Given the description of an element on the screen output the (x, y) to click on. 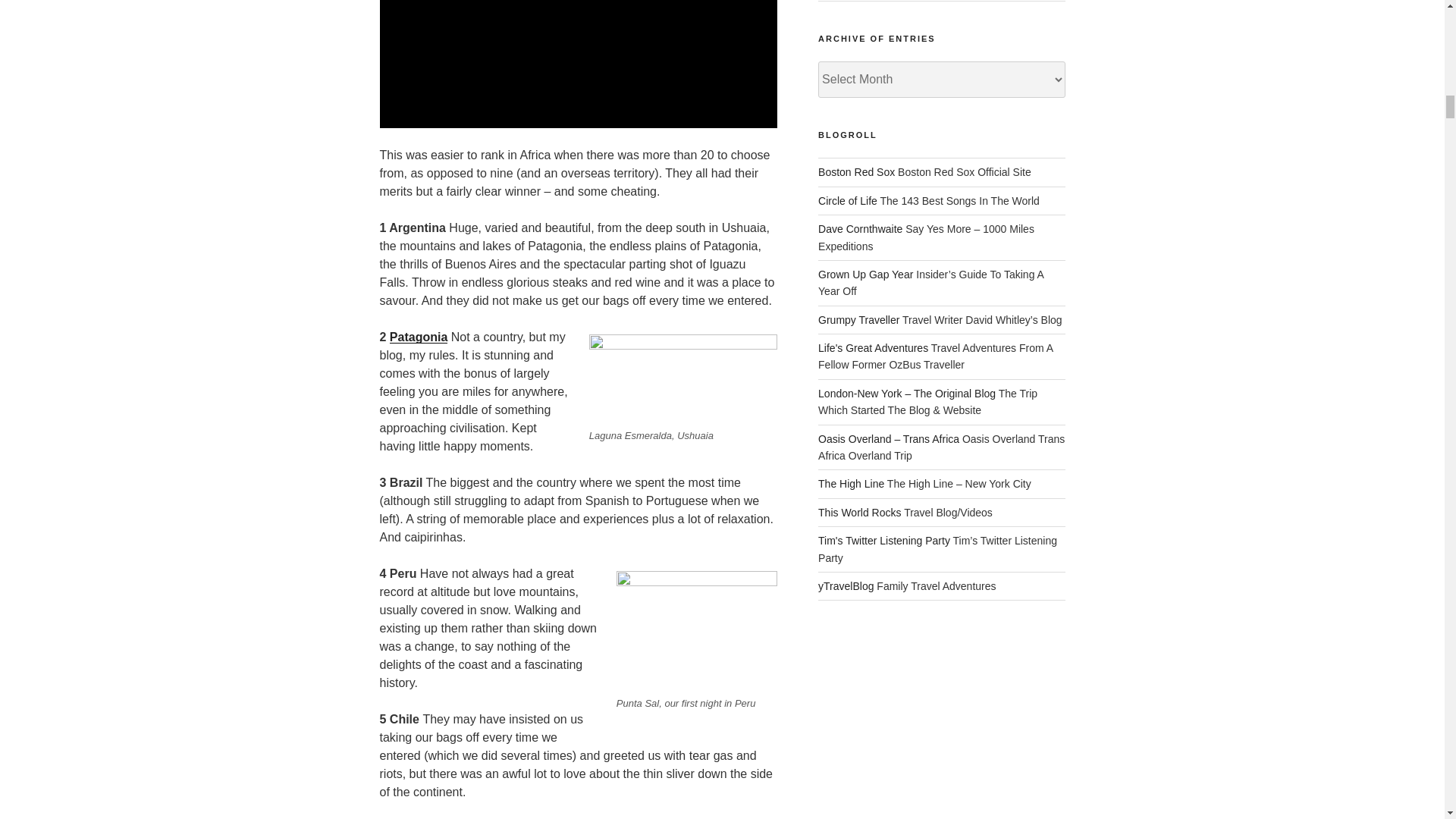
Patagonia (418, 336)
